Given the description of an element on the screen output the (x, y) to click on. 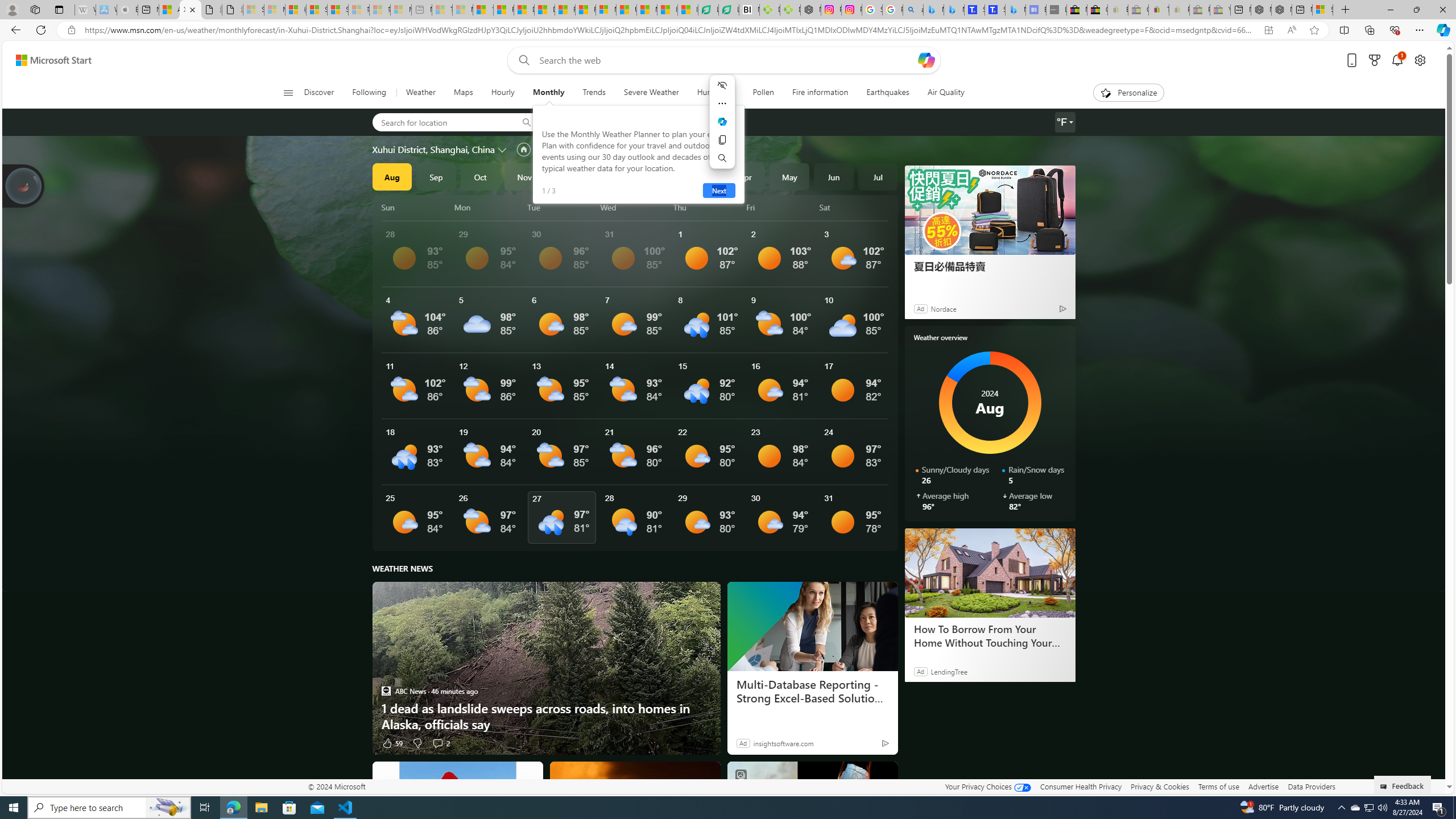
View comments 2 Comment (440, 742)
Shangri-La Bangkok, Hotel reviews and Room rates (994, 9)
Terms of use (1218, 785)
Foo BAR | Trusted Community Engagement and Contributions (584, 9)
Apr (745, 176)
Air Quality (945, 92)
